Given the description of an element on the screen output the (x, y) to click on. 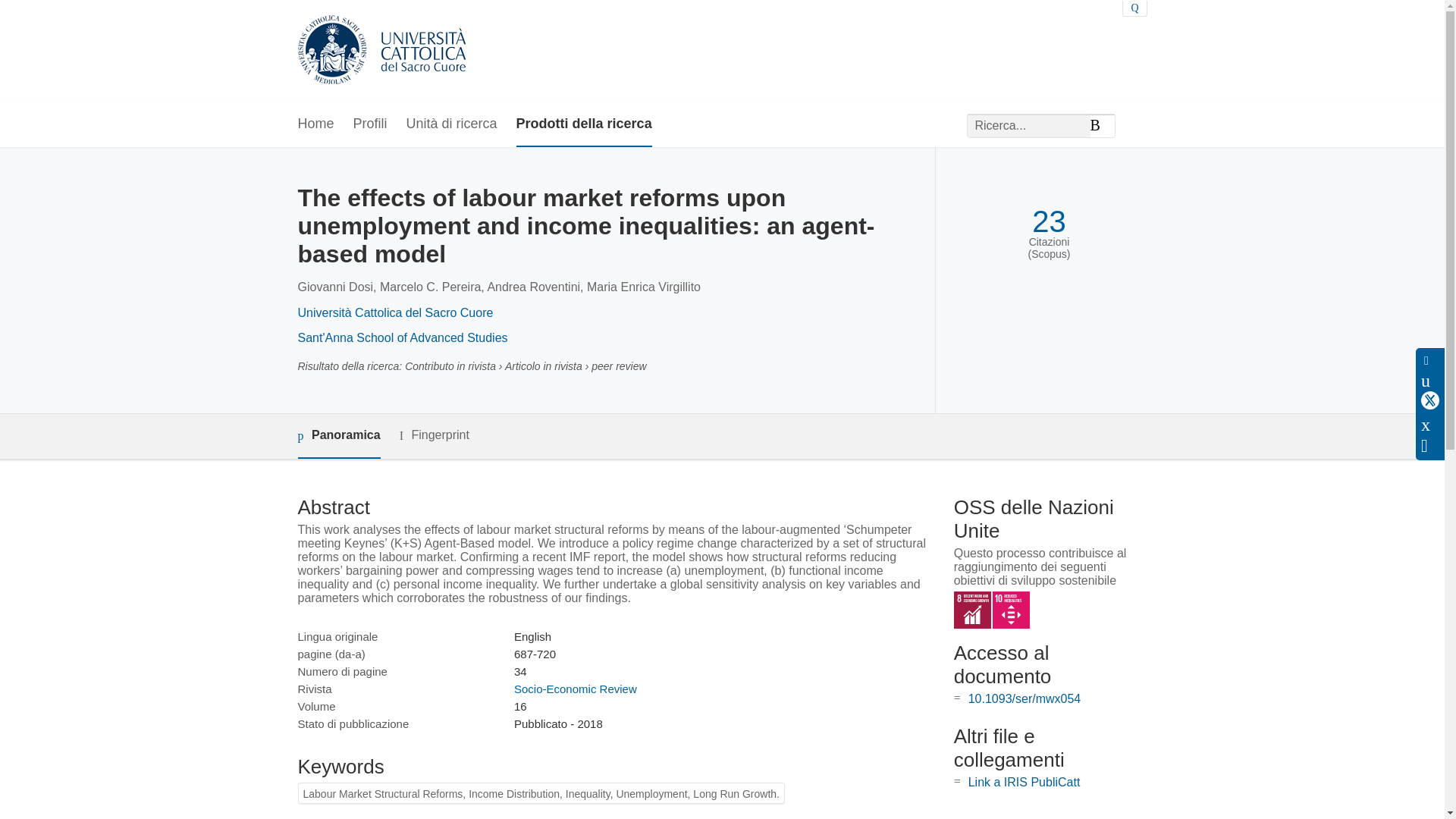
OSS 10 - Ridurre le disuguaglianze (1010, 609)
Link a IRIS PubliCatt (1024, 781)
23 (1048, 221)
OSS 8 - Lavoro dignitoso e crescita economica (972, 609)
Prodotti della ricerca (584, 124)
Fingerprint (433, 435)
Panoramica (338, 436)
PubliRES - Publications, Research, Expertise and Skills Home (380, 50)
Socio-Economic Review (575, 688)
